Given the description of an element on the screen output the (x, y) to click on. 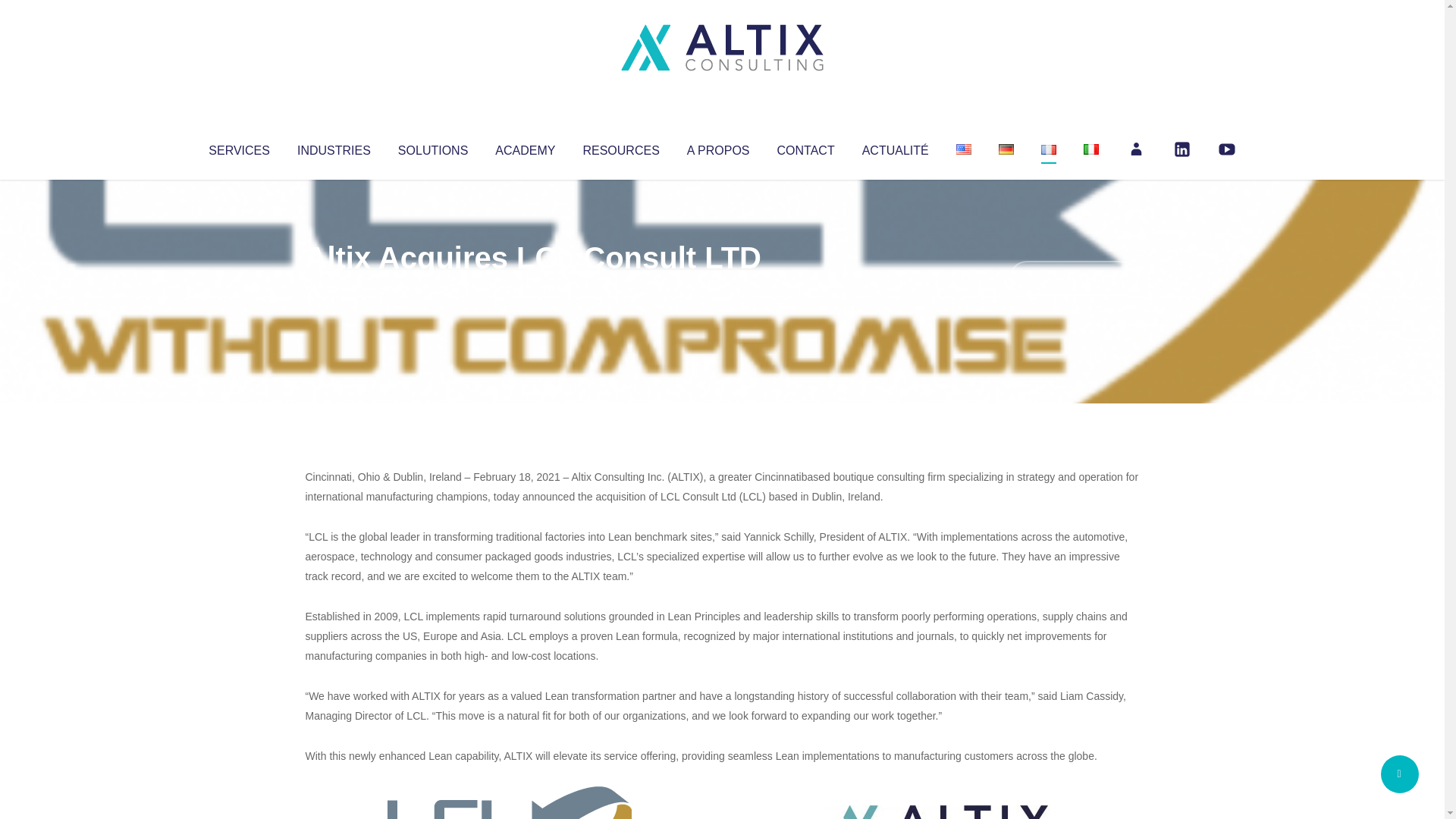
Articles par Altix (333, 287)
A PROPOS (718, 146)
ACADEMY (524, 146)
SERVICES (238, 146)
Uncategorized (530, 287)
RESOURCES (620, 146)
No Comments (1073, 278)
INDUSTRIES (334, 146)
SOLUTIONS (432, 146)
Altix (333, 287)
